Given the description of an element on the screen output the (x, y) to click on. 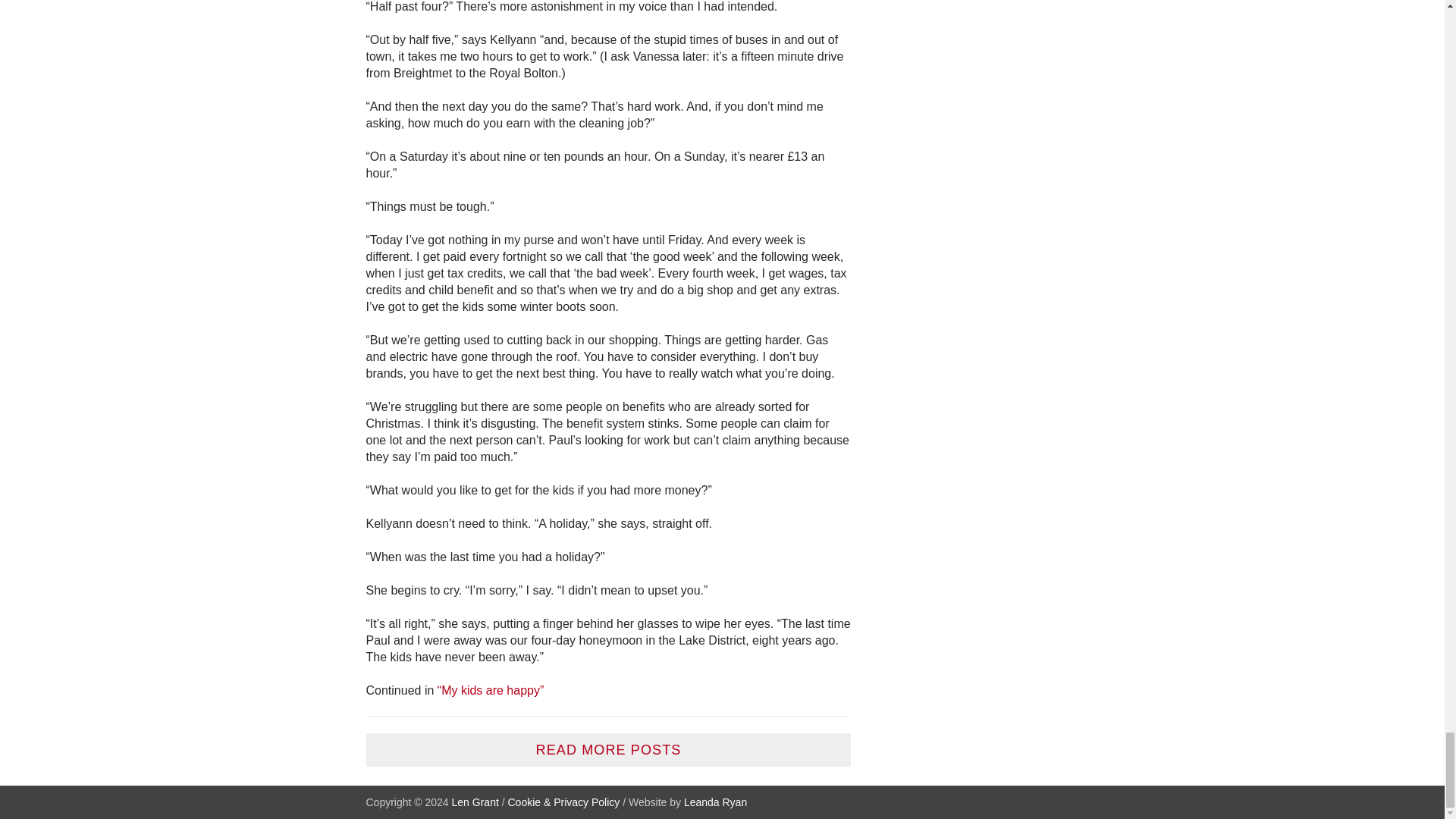
READ MORE POSTS (607, 749)
